Given the description of an element on the screen output the (x, y) to click on. 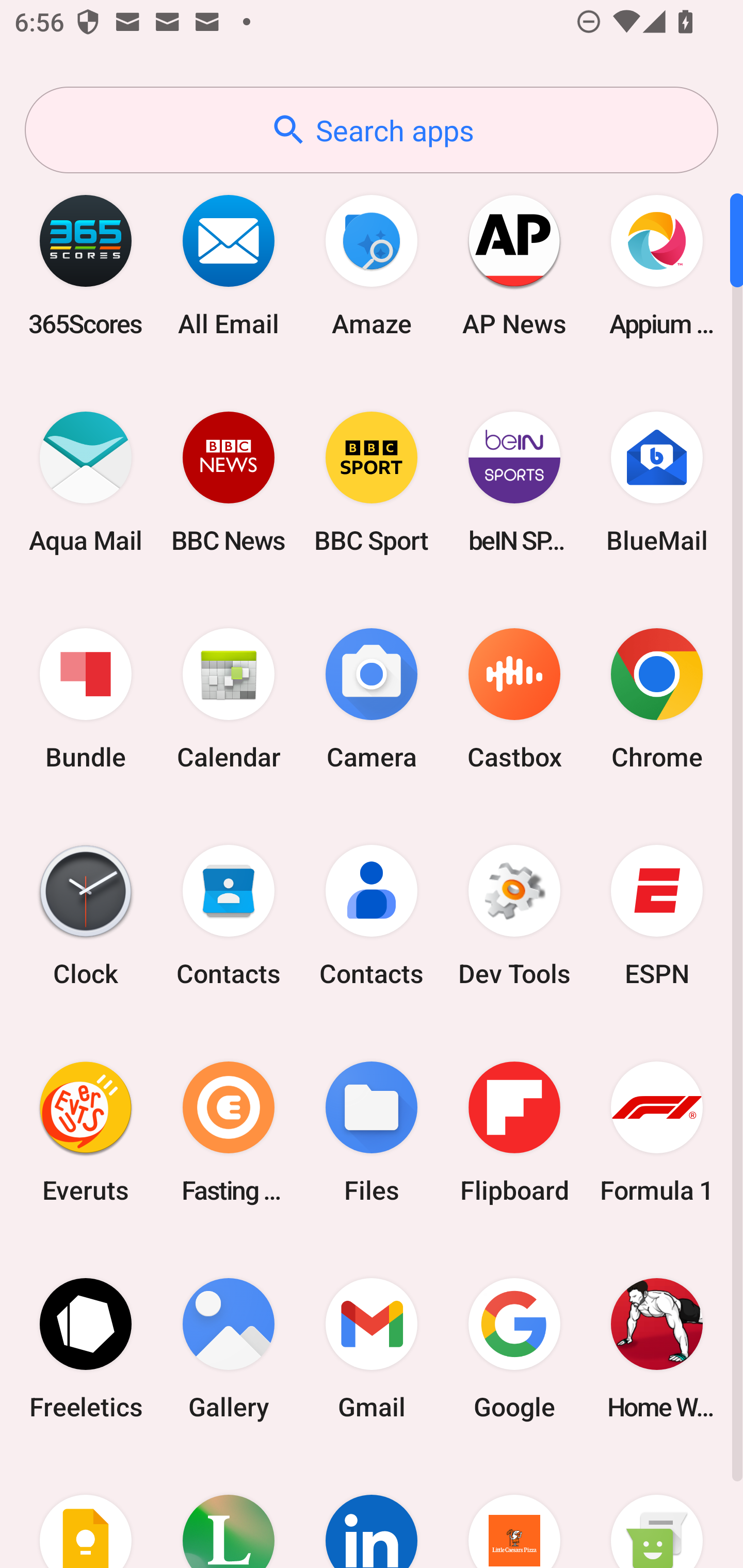
  Search apps (371, 130)
365Scores (85, 264)
All Email (228, 264)
Amaze (371, 264)
AP News (514, 264)
Appium Settings (656, 264)
Aqua Mail (85, 482)
BBC News (228, 482)
BBC Sport (371, 482)
beIN SPORTS (514, 482)
BlueMail (656, 482)
Bundle (85, 699)
Calendar (228, 699)
Camera (371, 699)
Castbox (514, 699)
Chrome (656, 699)
Clock (85, 915)
Contacts (228, 915)
Contacts (371, 915)
Dev Tools (514, 915)
ESPN (656, 915)
Everuts (85, 1131)
Fasting Coach (228, 1131)
Files (371, 1131)
Flipboard (514, 1131)
Formula 1 (656, 1131)
Freeletics (85, 1348)
Gallery (228, 1348)
Gmail (371, 1348)
Google (514, 1348)
Home Workout (656, 1348)
